Given the description of an element on the screen output the (x, y) to click on. 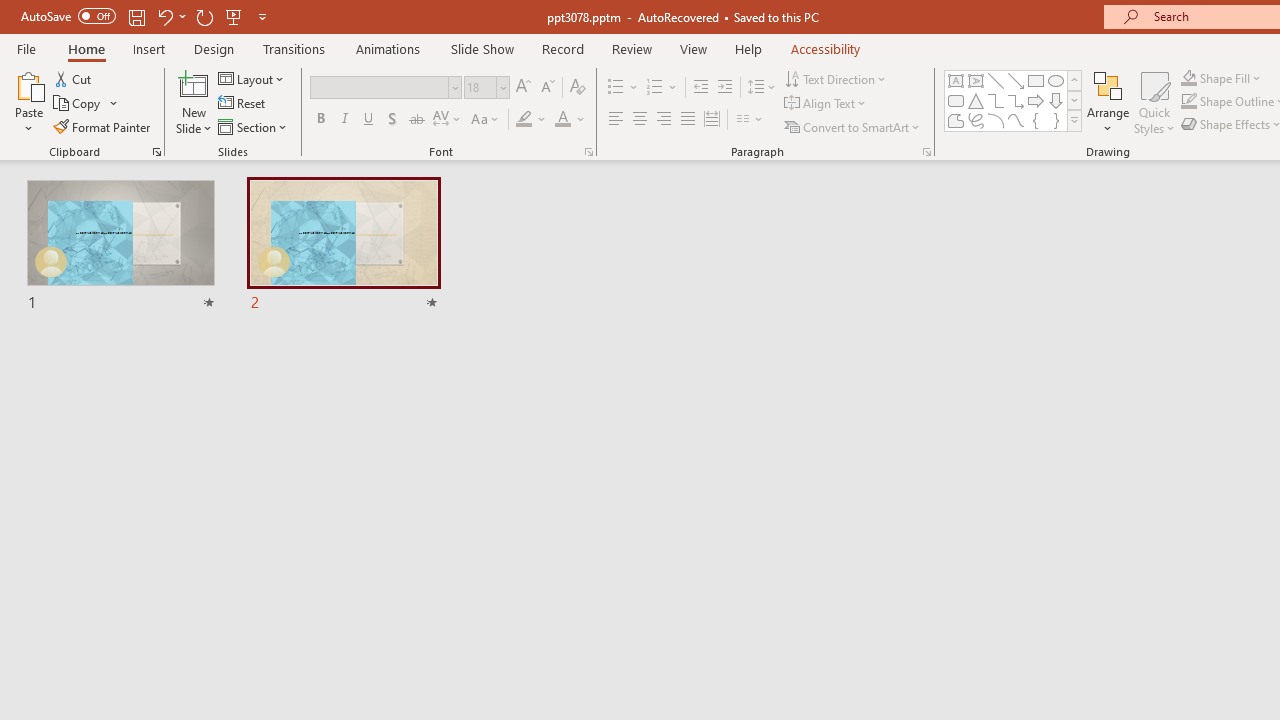
Office Clipboard... (156, 151)
Text Box (955, 80)
New Slide (193, 102)
Shapes (1074, 120)
Rectangle: Rounded Corners (955, 100)
Freeform: Shape (955, 120)
Convert to SmartArt (853, 126)
System (10, 11)
Slide Show (481, 48)
Review (631, 48)
Align Text (826, 103)
Arrow: Down (1055, 100)
Row up (1074, 79)
Character Spacing (447, 119)
